Given the description of an element on the screen output the (x, y) to click on. 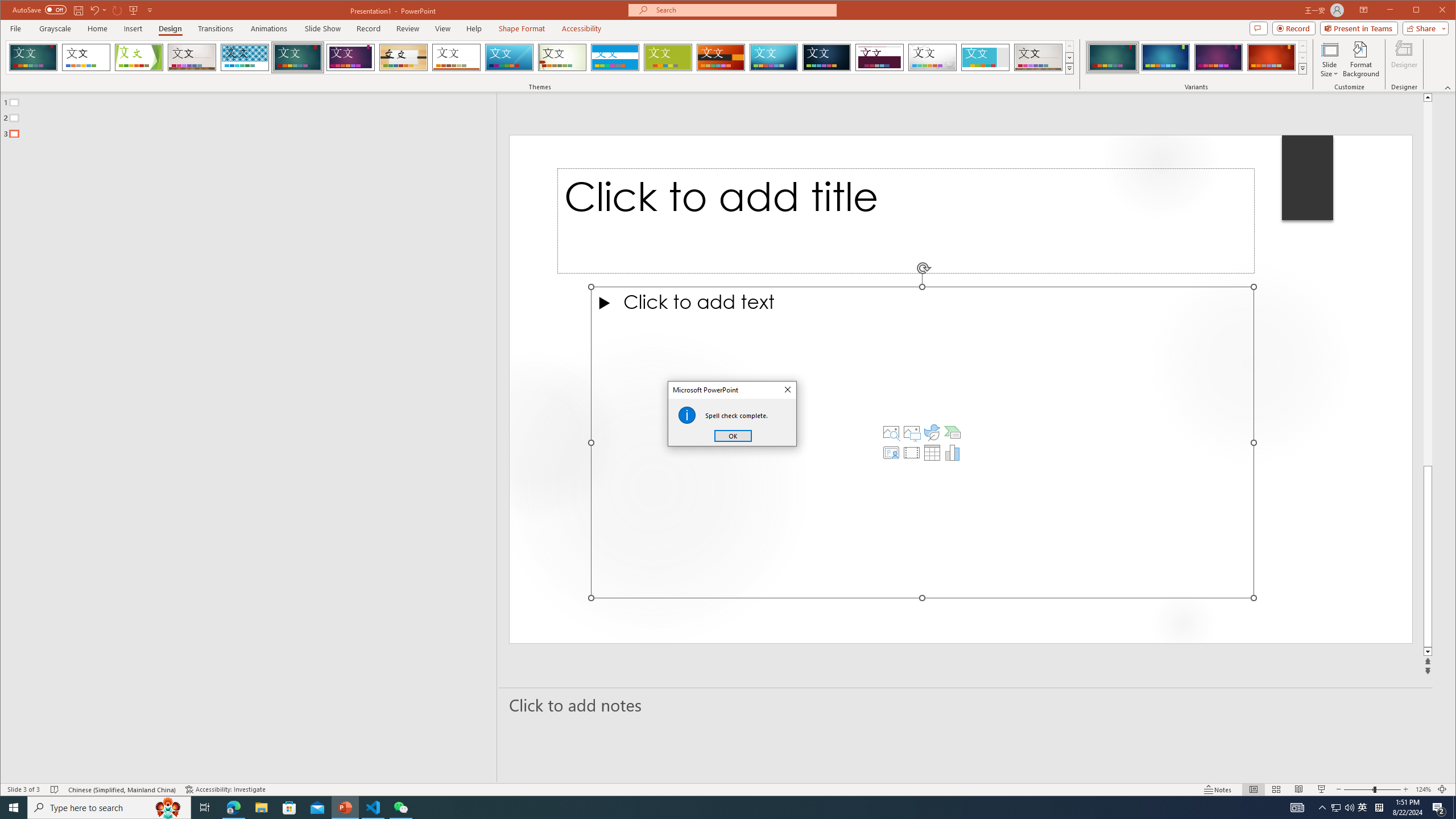
OK (732, 435)
Damask (826, 57)
Basis (668, 57)
